Given the description of an element on the screen output the (x, y) to click on. 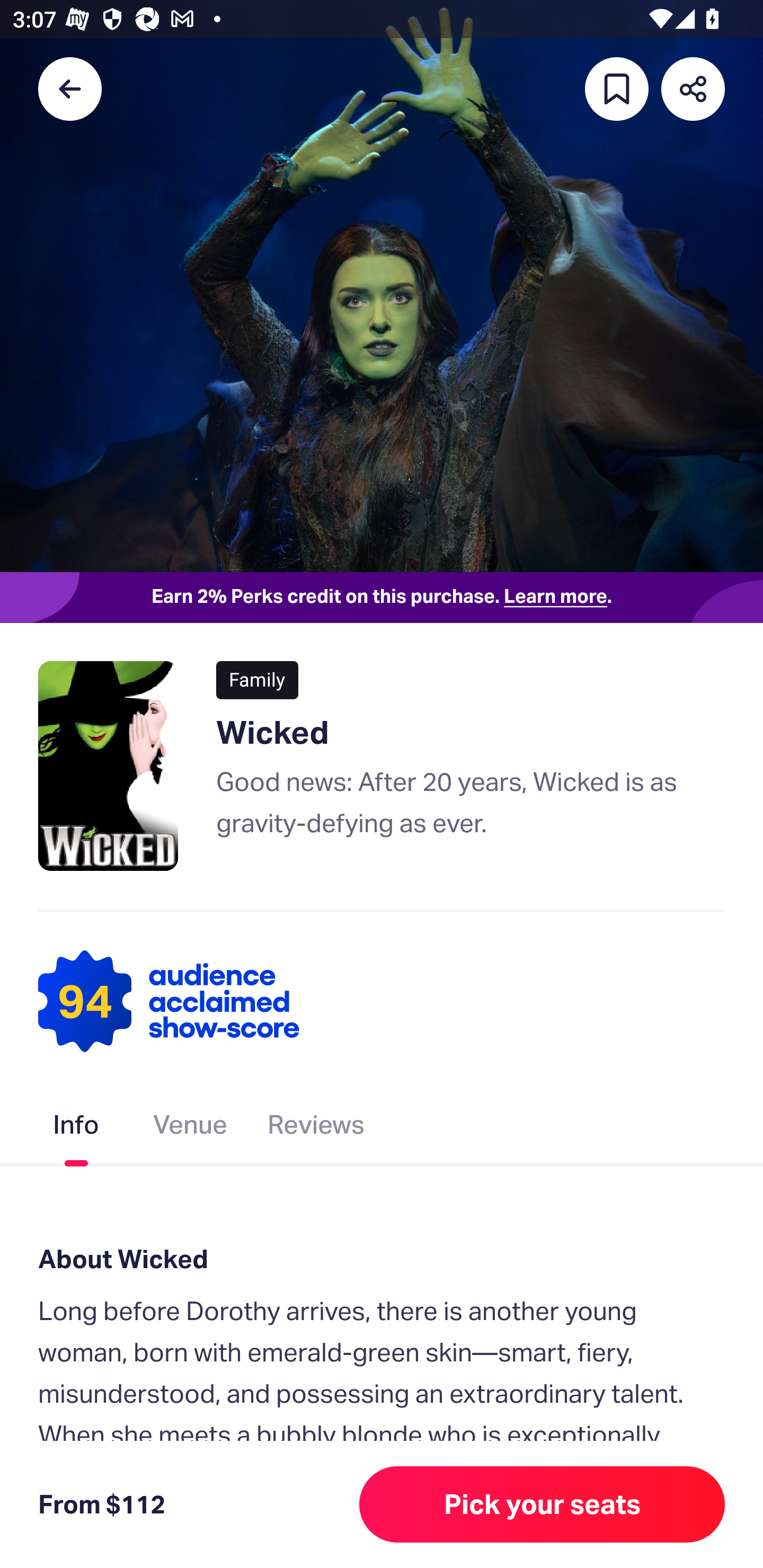
Earn 2% Perks credit on this purchase. Learn more. (381, 597)
Venue (190, 1127)
Reviews (315, 1127)
About Wicked (381, 1259)
Pick your seats (541, 1504)
